Given the description of an element on the screen output the (x, y) to click on. 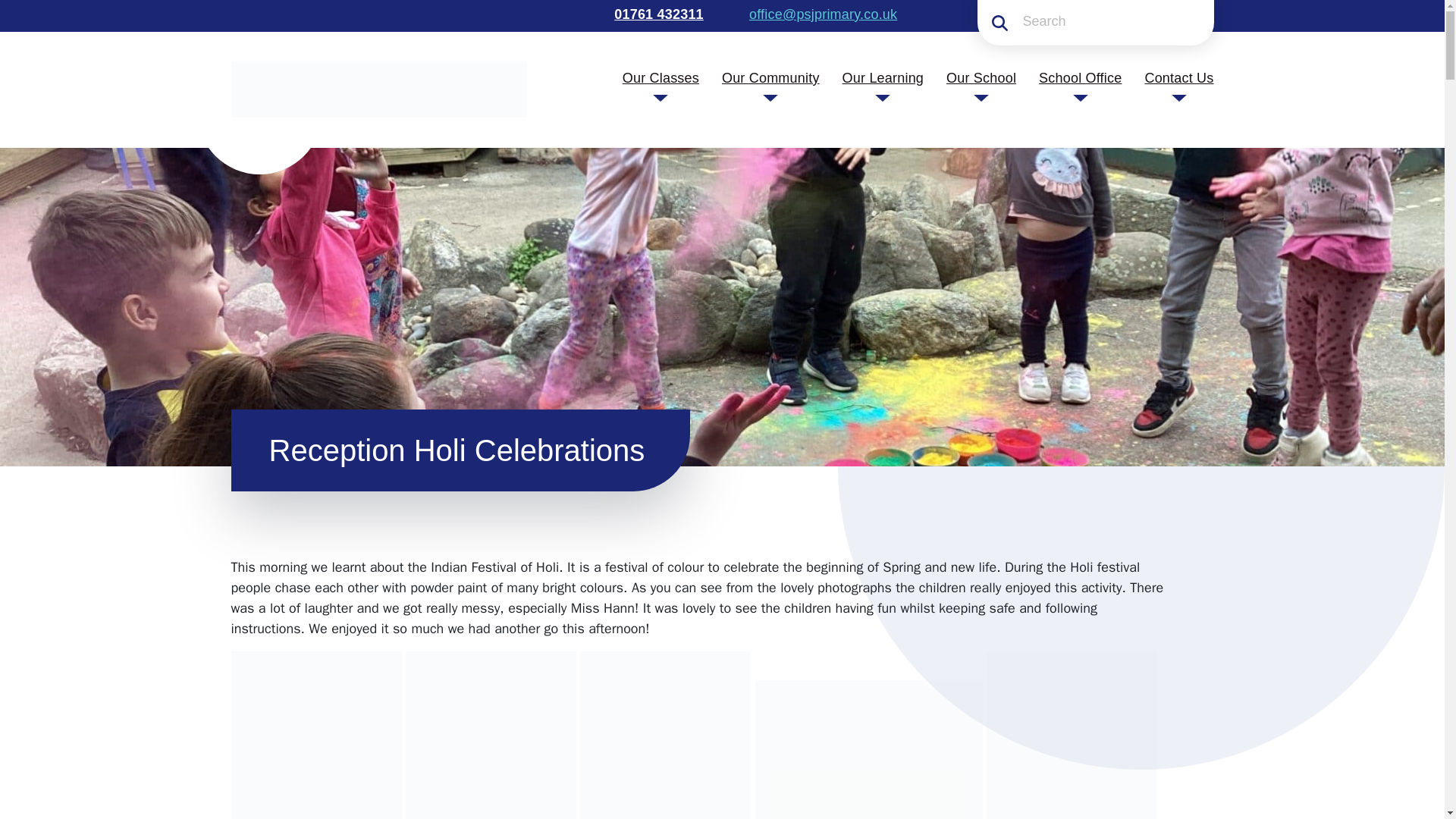
Our Learning (883, 77)
Our Community (770, 77)
Our Classes (660, 77)
Our School (981, 77)
Our Community (770, 77)
01761 432311 (656, 14)
Our Classes (660, 77)
